Given the description of an element on the screen output the (x, y) to click on. 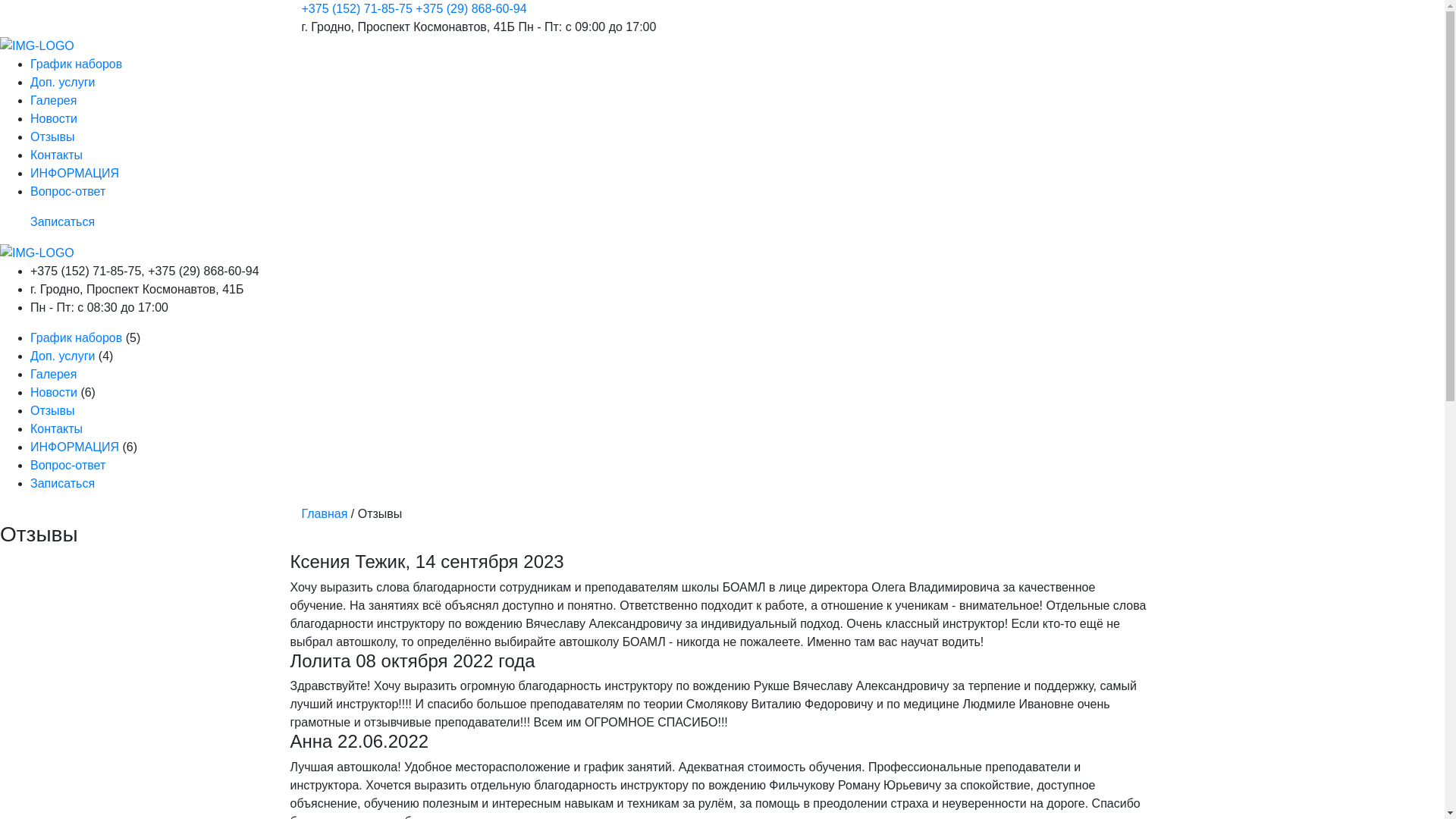
+375 (152) 71-85-75 Element type: text (356, 8)
+375 (29) 868-60-94 Element type: text (470, 8)
